Given the description of an element on the screen output the (x, y) to click on. 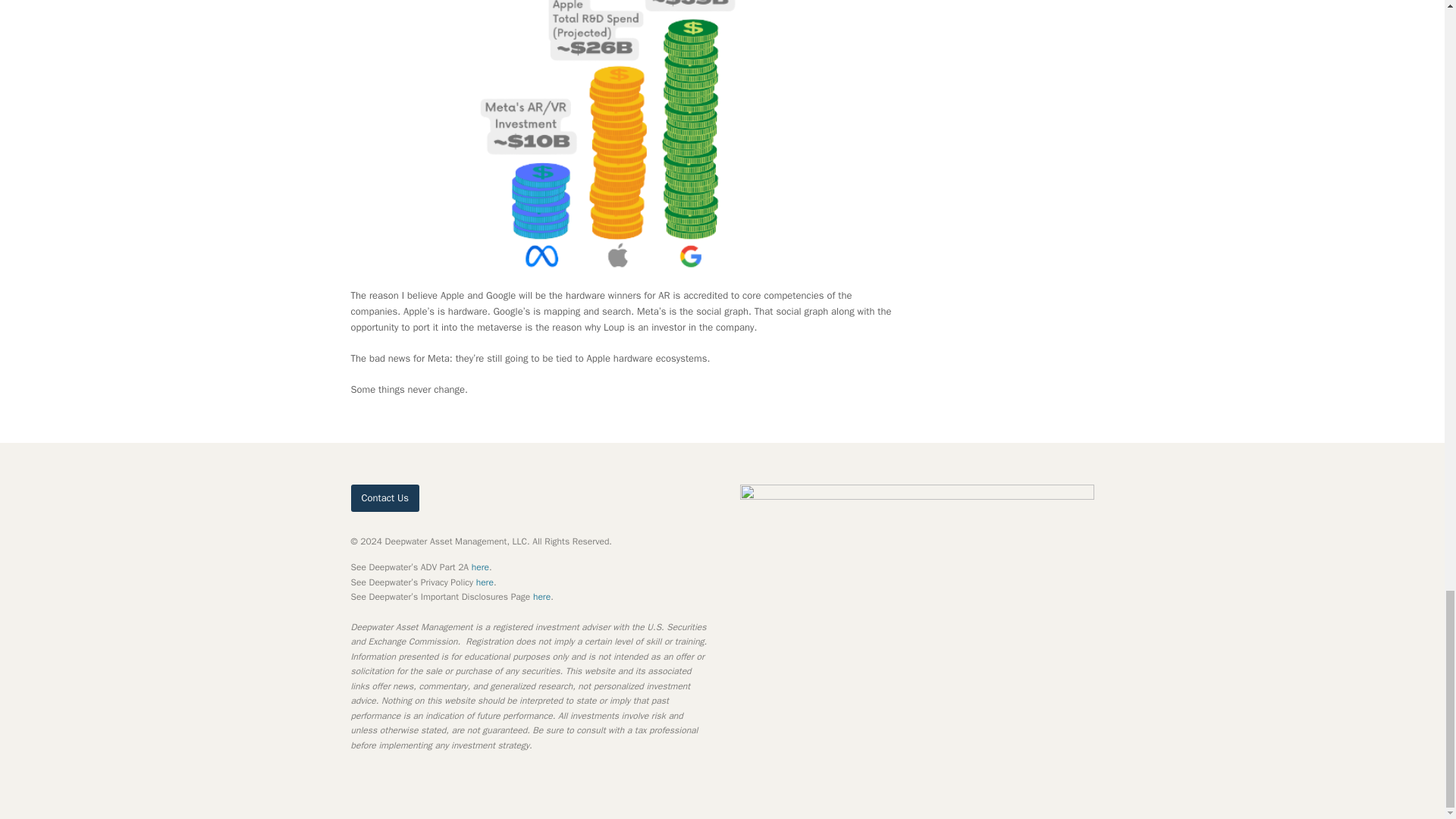
here (484, 582)
here (480, 567)
here (541, 596)
Contact Us (384, 497)
